Given the description of an element on the screen output the (x, y) to click on. 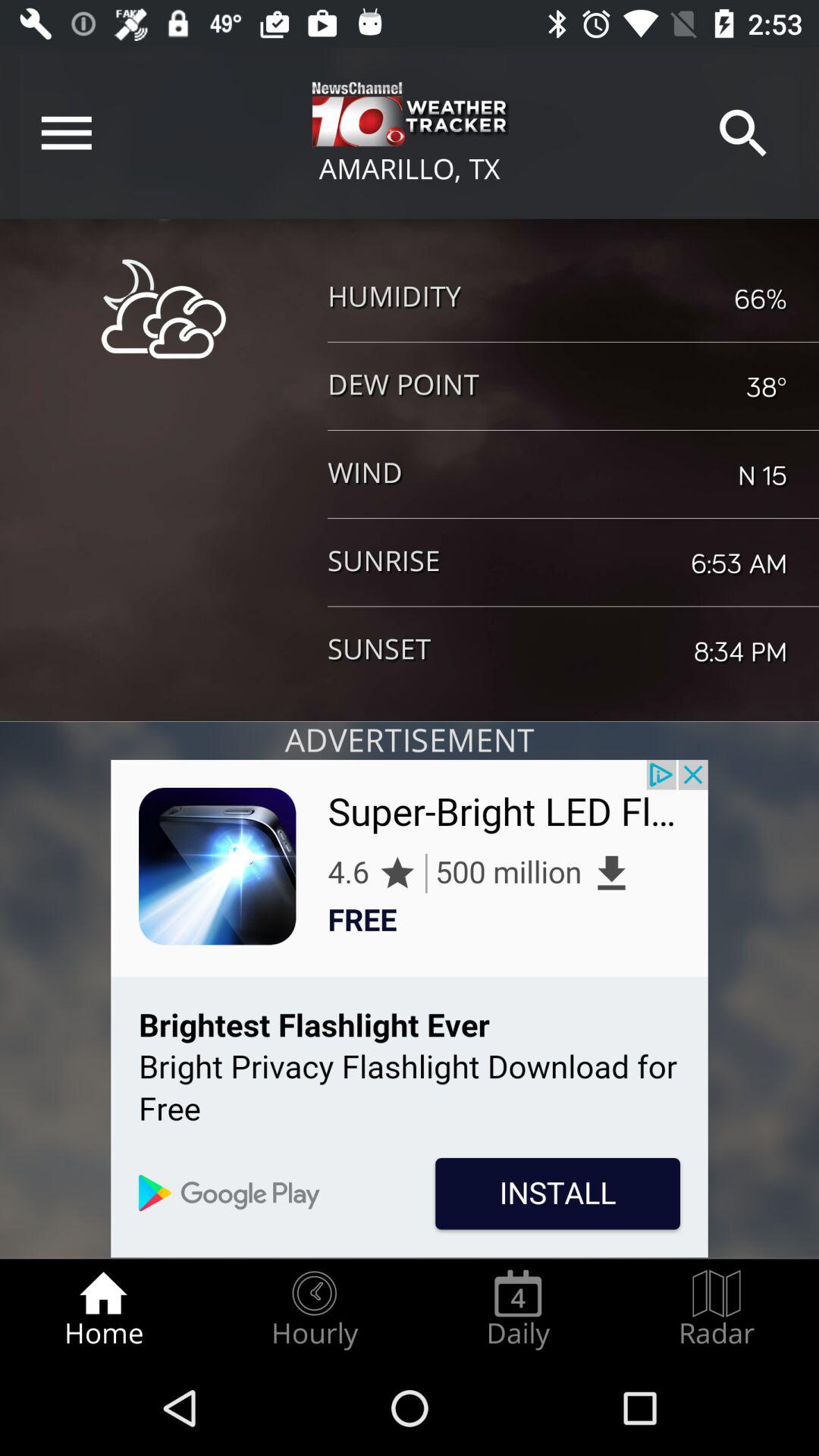
tap radar item (716, 1309)
